Given the description of an element on the screen output the (x, y) to click on. 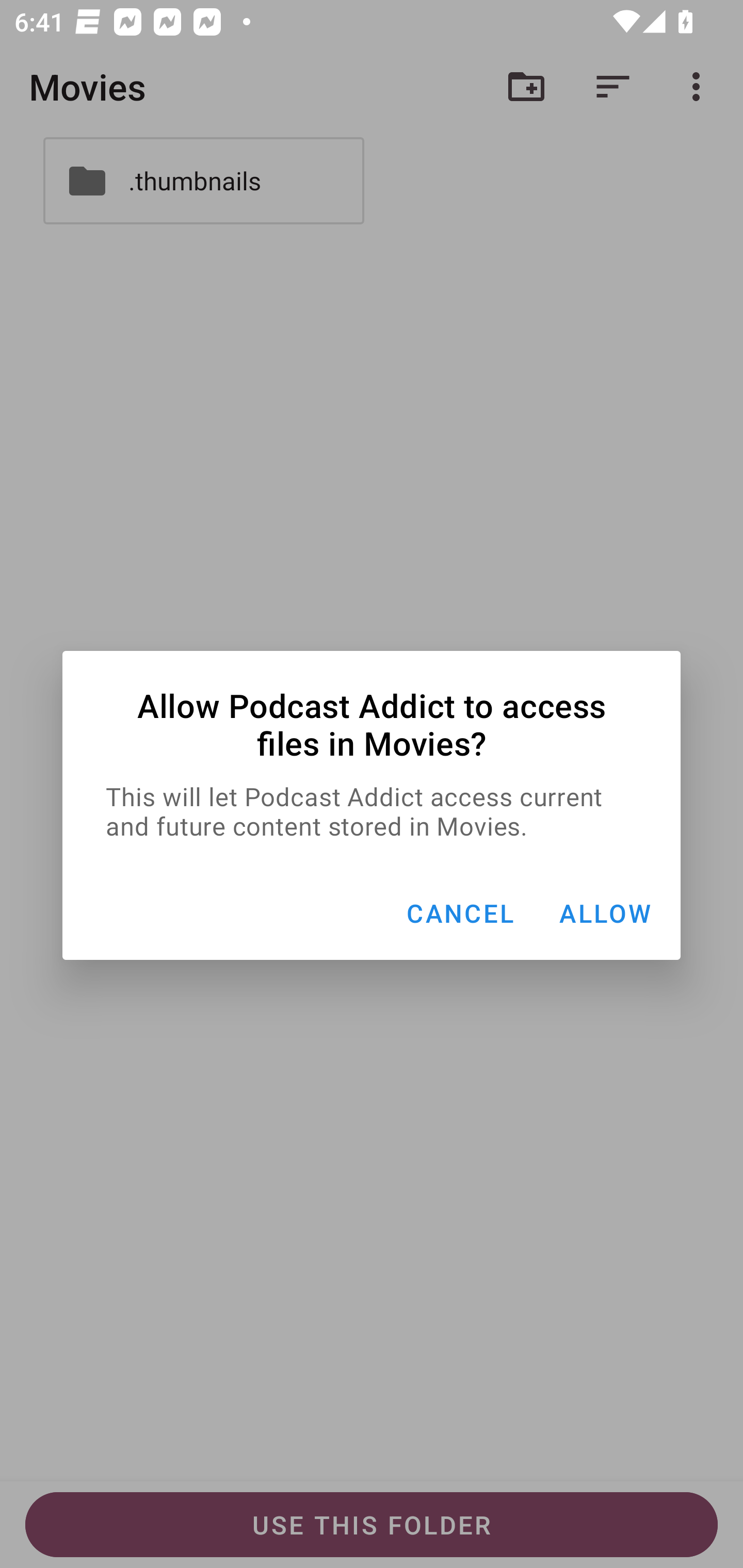
CANCEL (459, 913)
ALLOW (604, 913)
